Given the description of an element on the screen output the (x, y) to click on. 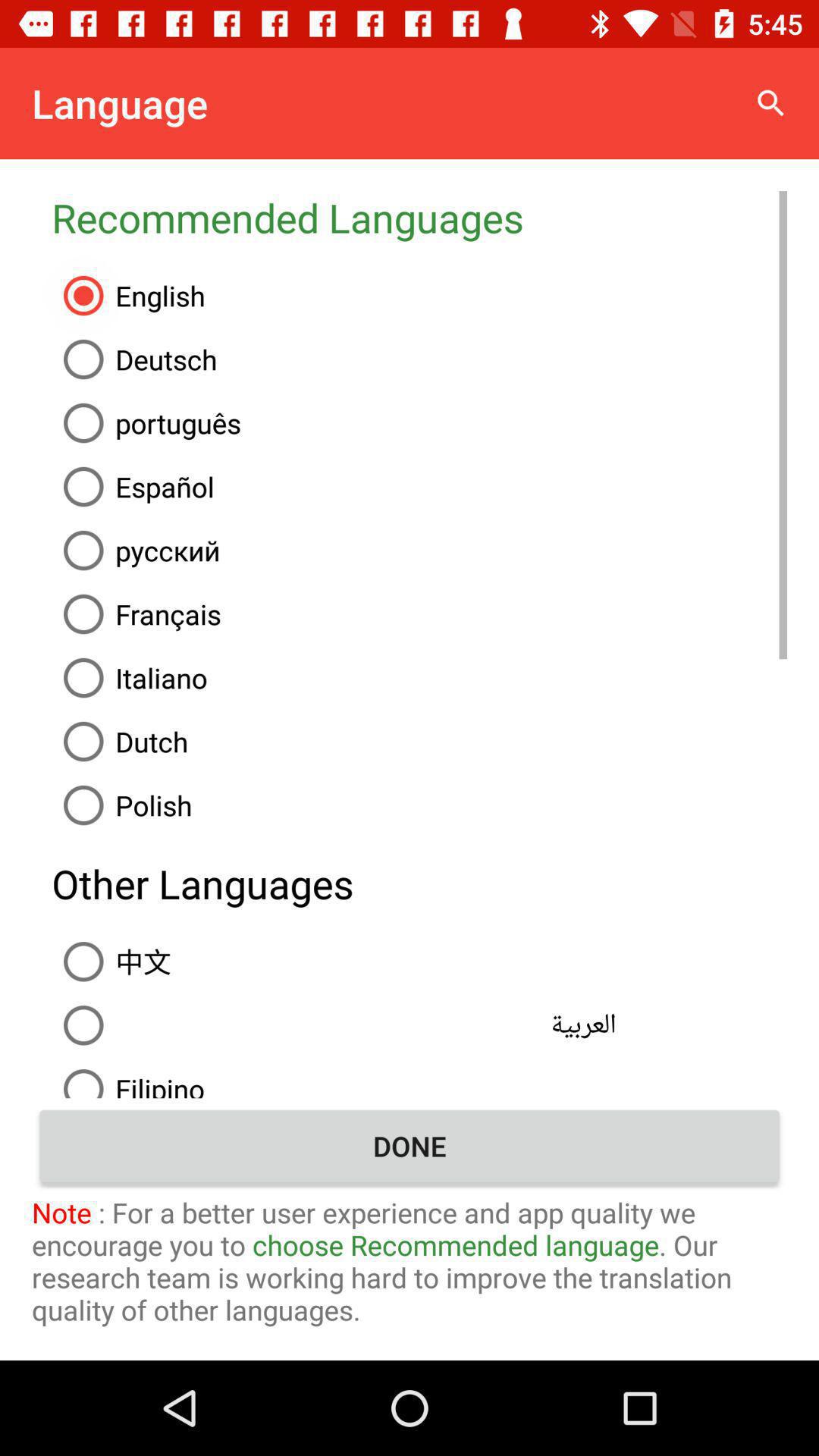
swipe until done item (409, 1145)
